Given the description of an element on the screen output the (x, y) to click on. 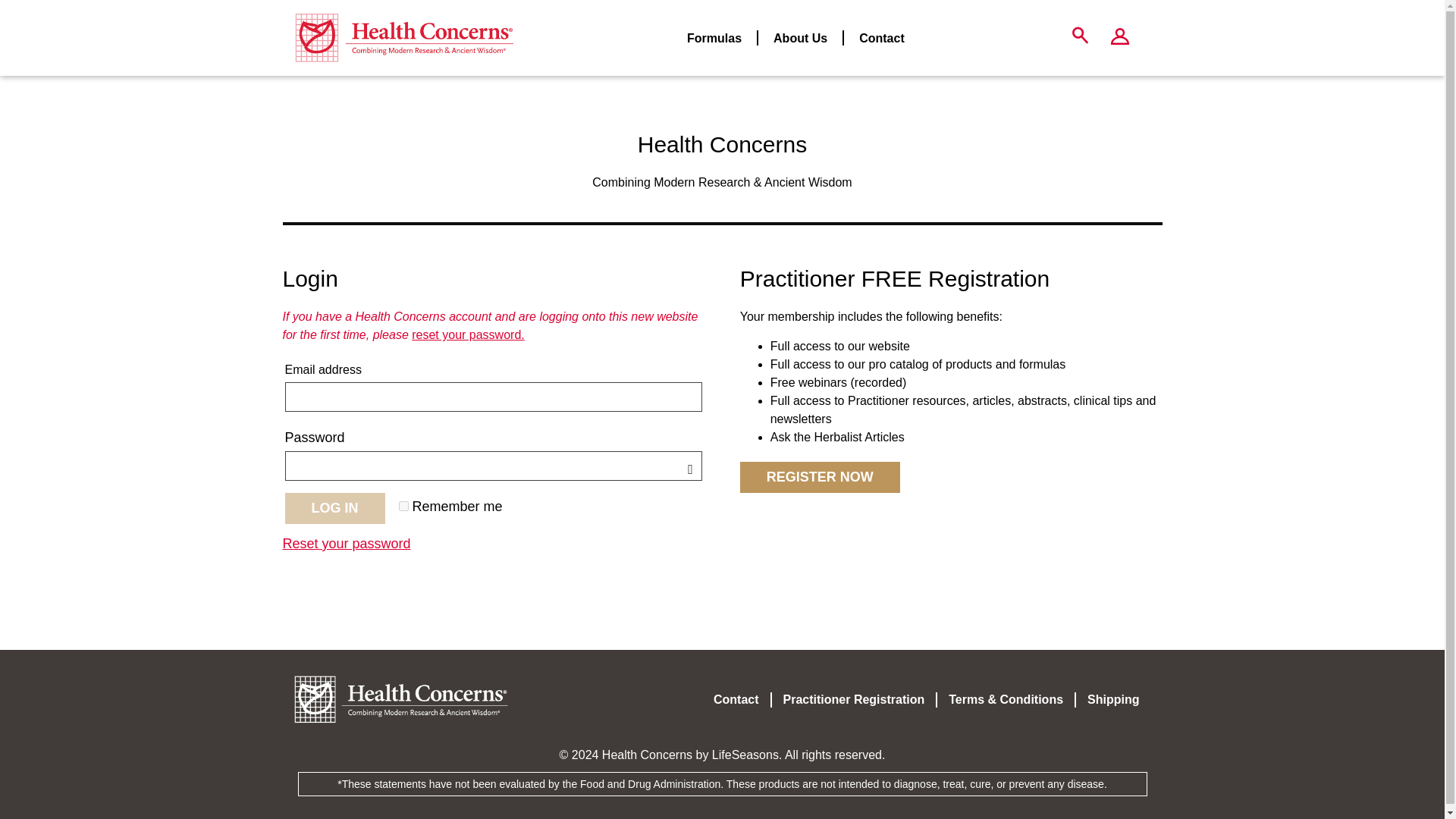
About Us (800, 37)
Contact (882, 37)
Formulas (714, 37)
forever (403, 506)
